Given the description of an element on the screen output the (x, y) to click on. 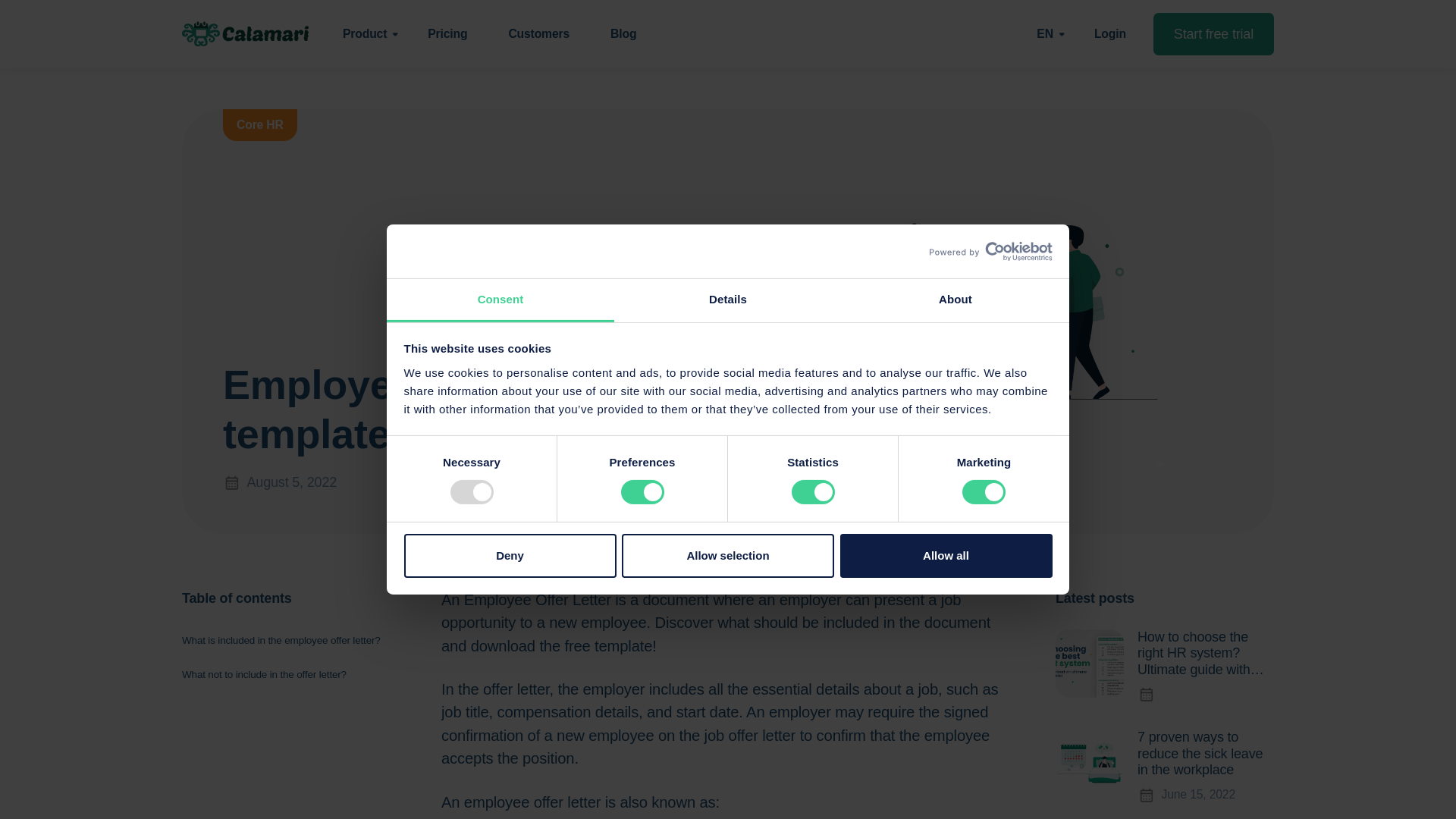
About (954, 300)
Allow selection (727, 555)
Details (727, 300)
Consent (500, 300)
Deny (509, 555)
Allow all (946, 555)
